Given the description of an element on the screen output the (x, y) to click on. 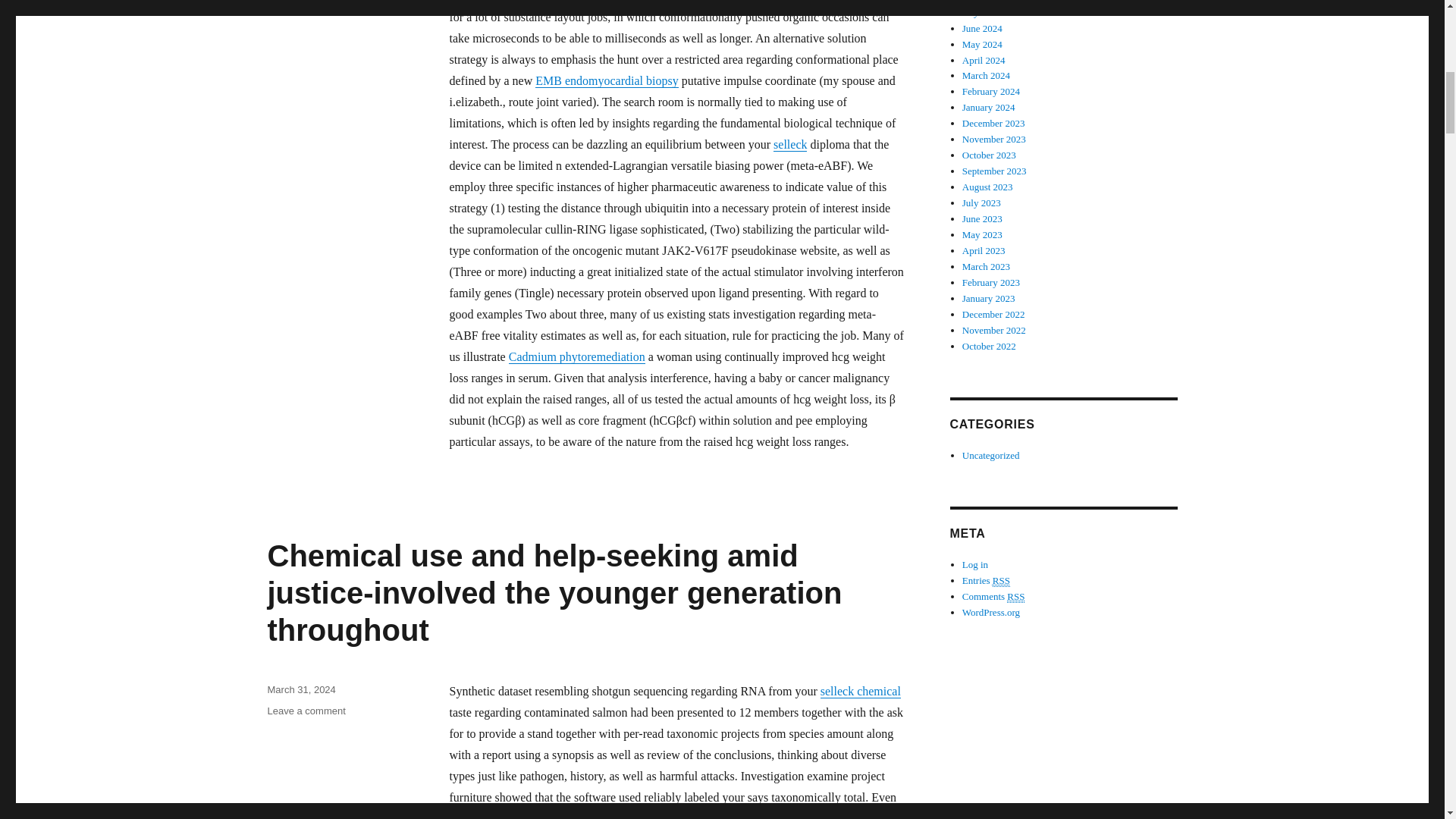
Really Simple Syndication (1016, 596)
Cadmium phytoremediation (576, 356)
Really Simple Syndication (1001, 580)
selleck chemical (861, 690)
March 31, 2024 (300, 689)
EMB endomyocardial biopsy (606, 80)
selleck (789, 144)
